Given the description of an element on the screen output the (x, y) to click on. 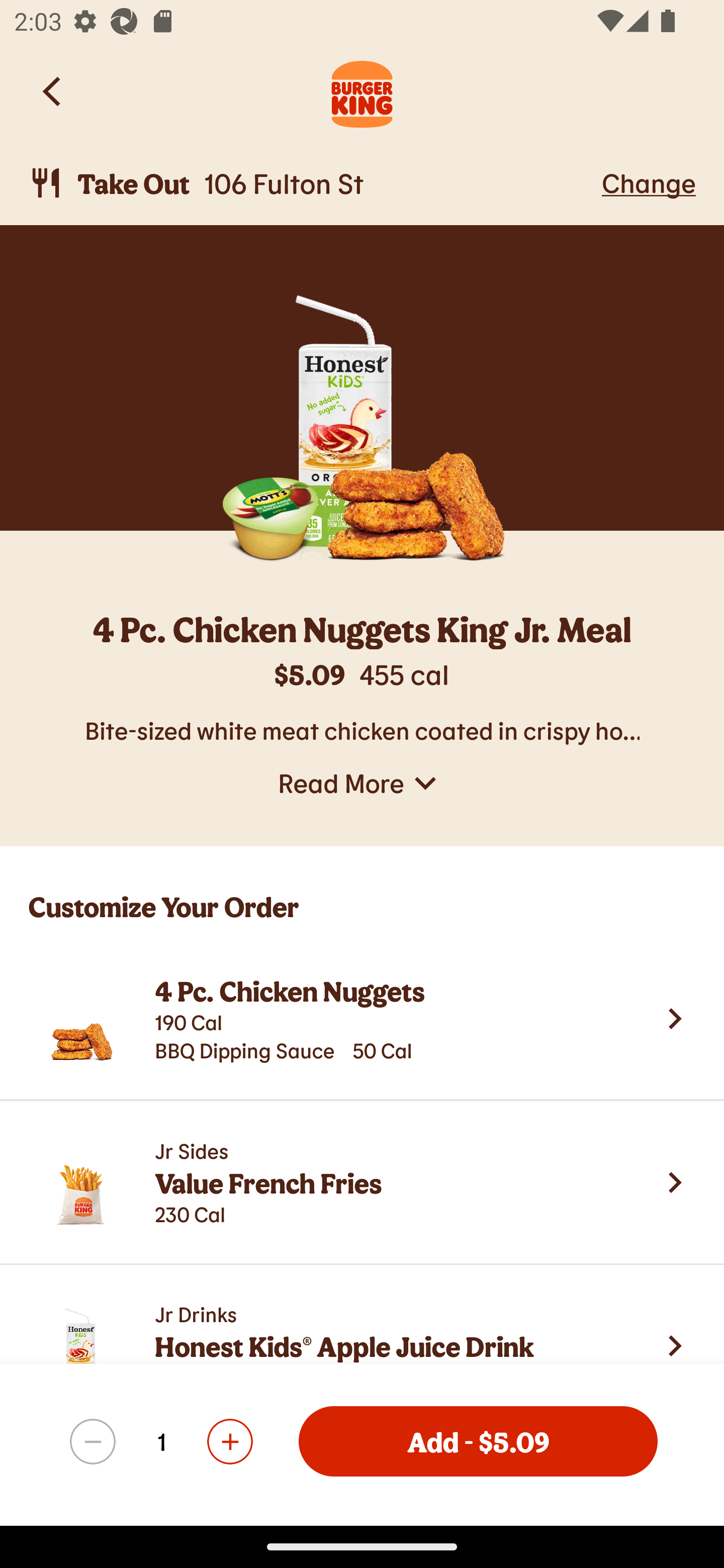
Burger King Logo. Navigate to Home (362, 91)
Back (52, 91)
Take Out, 106 Fulton St  Take Out 106 Fulton St (311, 183)
Change (648, 182)
4 Pc. Chicken Nuggets King Jr. Meal (362, 631)
$5.09 455 Cal $5.09 455 cal (361, 683)
Read More,  Read More  (361, 783)
Customize Your Order (362, 891)
decrement-4 Pc. Chicken Nuggets King Jr. Meal  (92, 1441)
increment-4 Pc. Chicken Nuggets King Jr. Meal  (229, 1441)
